Given the description of an element on the screen output the (x, y) to click on. 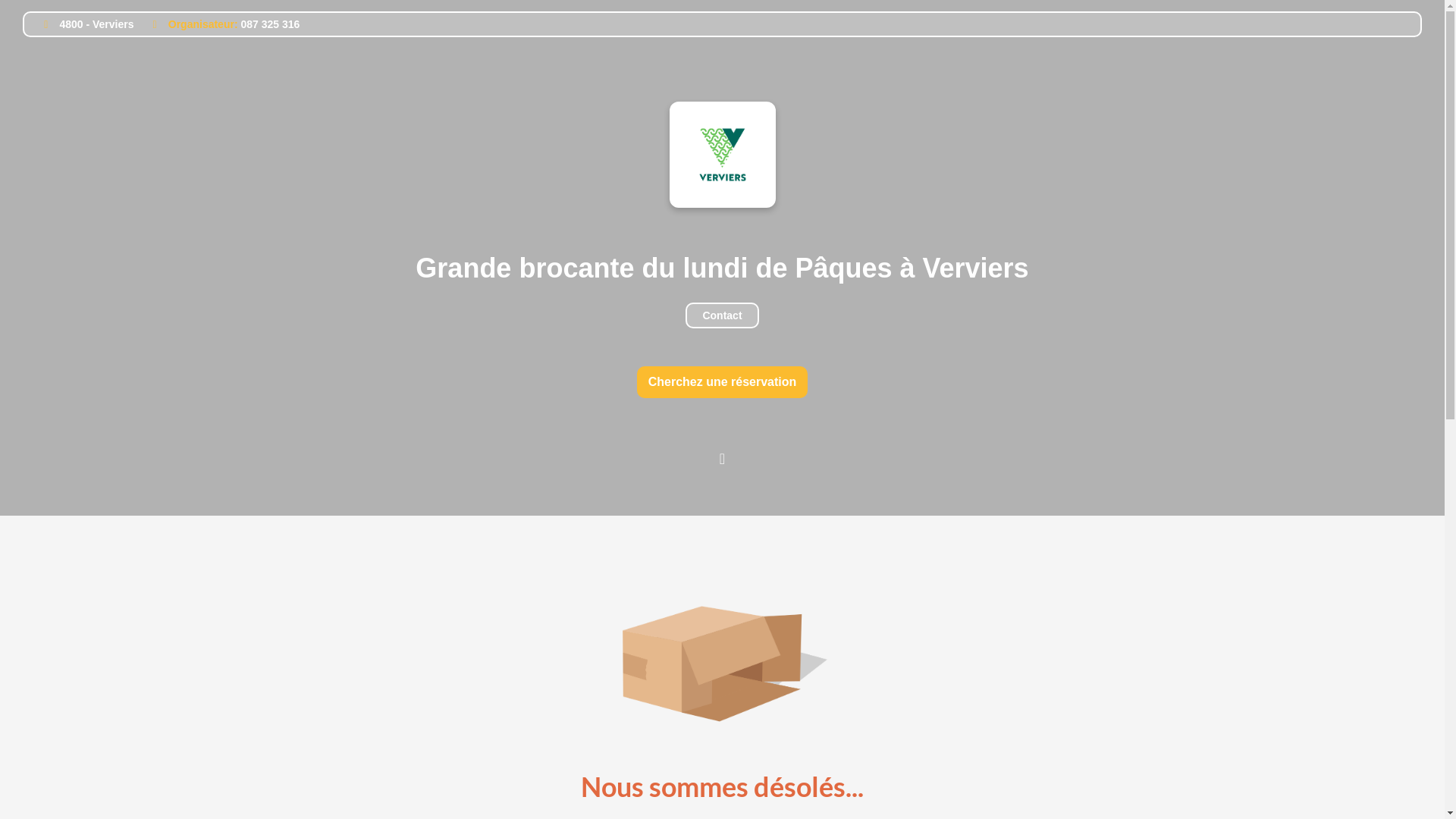
Organisateur: 087 325 316 Element type: text (217, 24)
Contact Element type: text (721, 315)
4800 - Verviers Element type: text (82, 24)
